Given the description of an element on the screen output the (x, y) to click on. 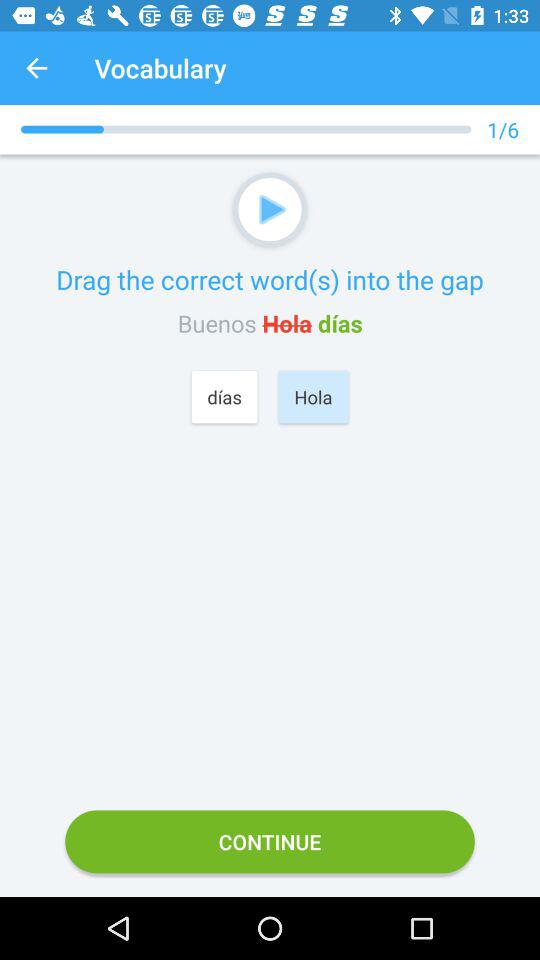
launch item to the left of vocabulary app (36, 68)
